Given the description of an element on the screen output the (x, y) to click on. 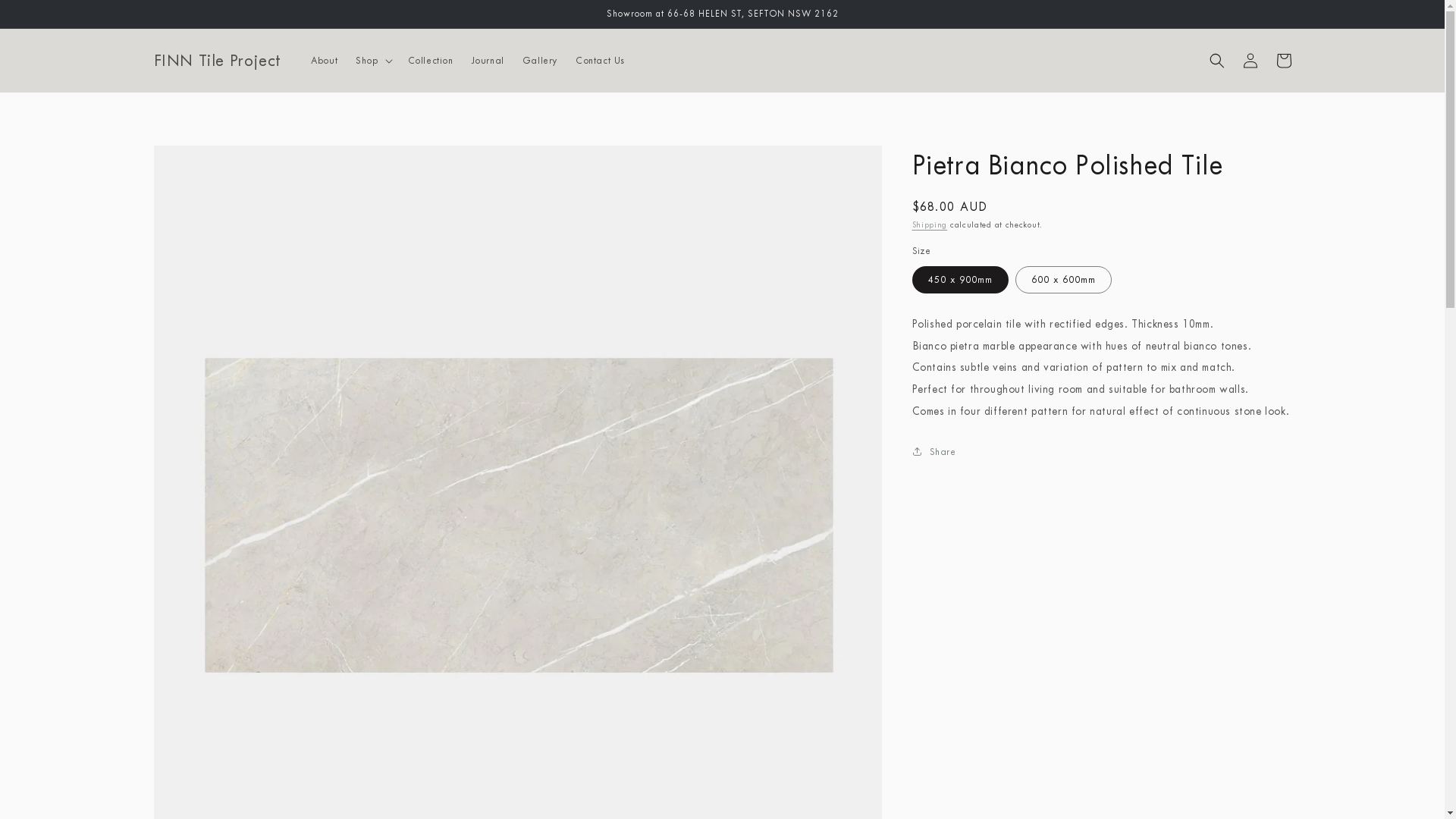
Gallery Element type: text (539, 60)
FINN Tile Project Element type: text (216, 60)
Contact Us Element type: text (599, 60)
Skip to product information Element type: text (198, 161)
Shipping Element type: text (929, 224)
Log in Element type: text (1249, 60)
About Element type: text (323, 60)
Journal Element type: text (487, 60)
Collection Element type: text (430, 60)
Cart Element type: text (1282, 60)
